Given the description of an element on the screen output the (x, y) to click on. 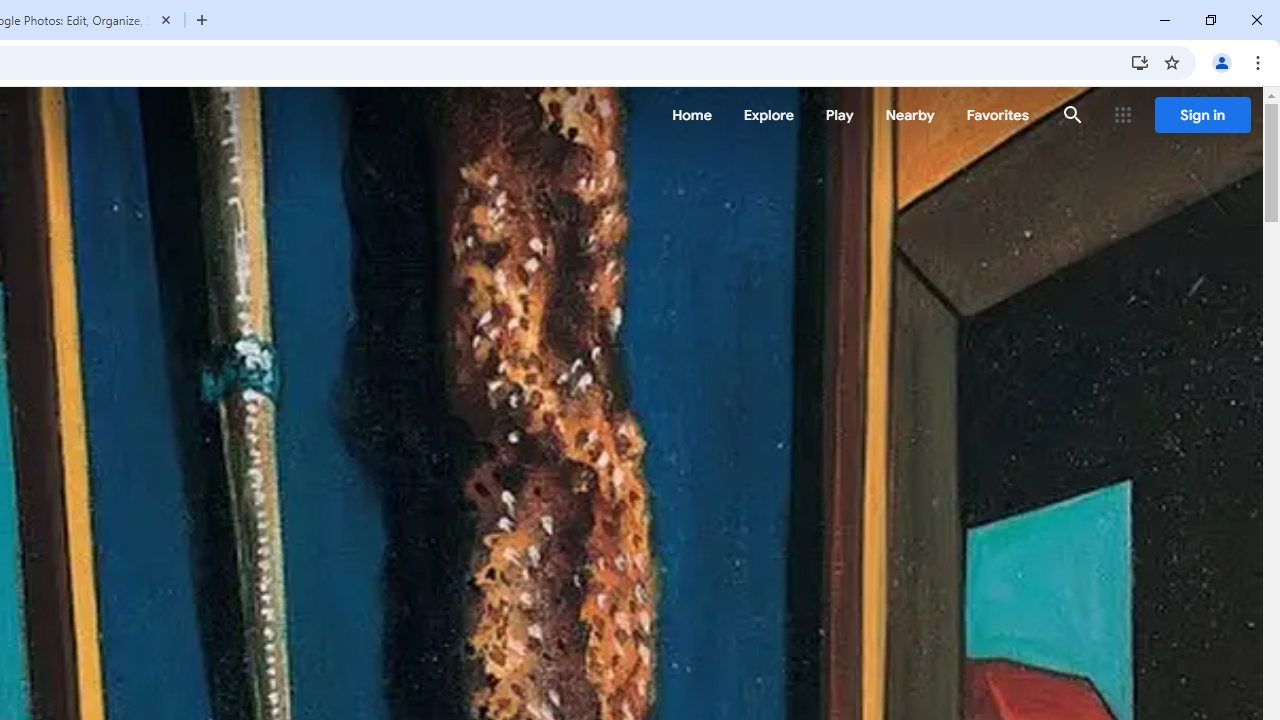
Favorites (996, 115)
Nearby (910, 115)
Play (840, 115)
Install Google Arts & Culture (1139, 62)
Explore (768, 115)
Home (691, 115)
